Given the description of an element on the screen output the (x, y) to click on. 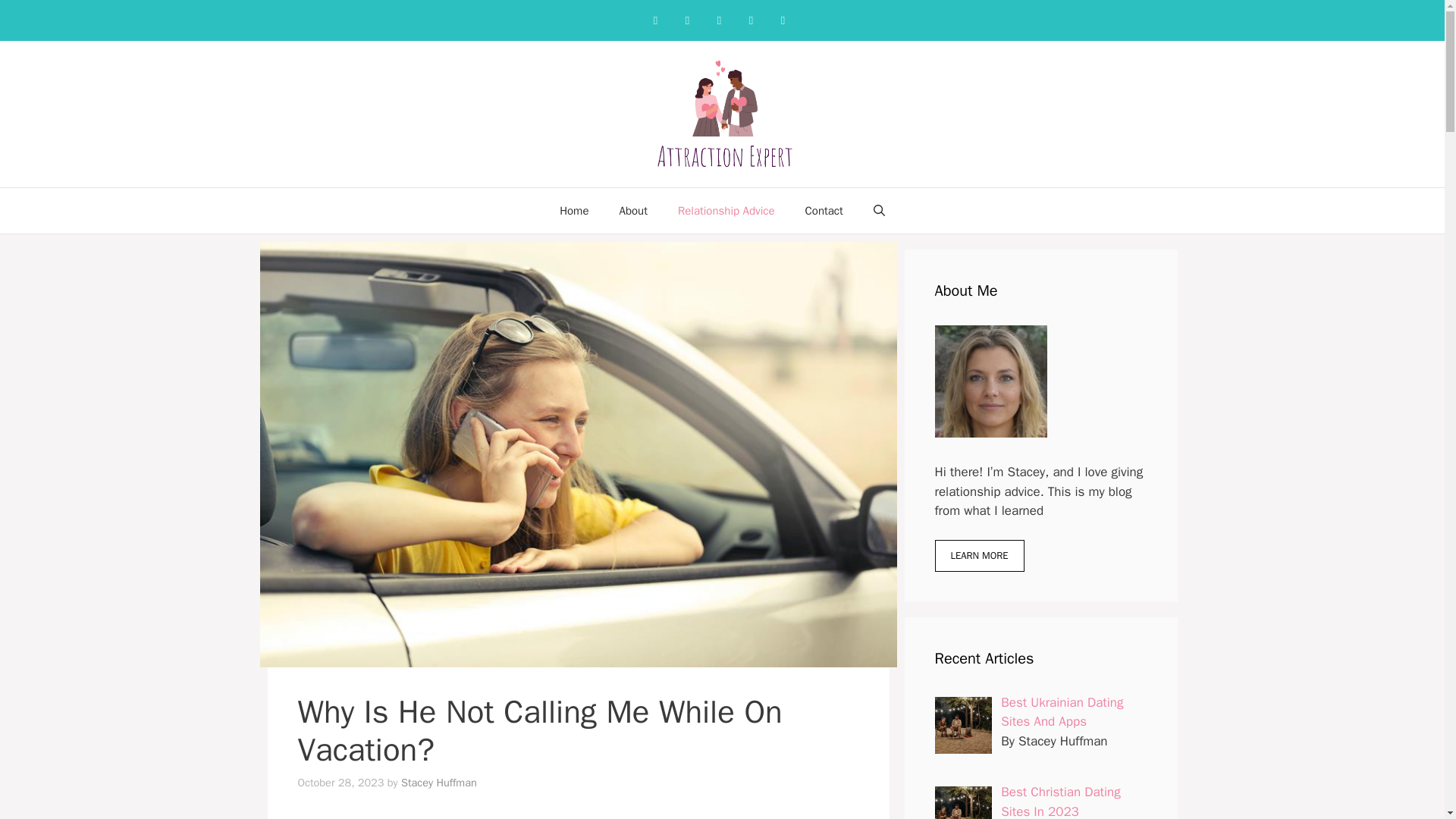
Facebook (655, 20)
Stacey Huffman (439, 782)
Pinterest (719, 20)
Best Ukrainian Dating Sites And Apps (1061, 712)
Best Christian Dating Sites In 2023 (1061, 801)
YouTube (783, 20)
About (633, 210)
View all posts by Stacey Huffman (439, 782)
LEARN MORE (978, 555)
Home (574, 210)
Twitter (751, 20)
Relationship Advice (726, 210)
Instagram (687, 20)
Contact (824, 210)
